Given the description of an element on the screen output the (x, y) to click on. 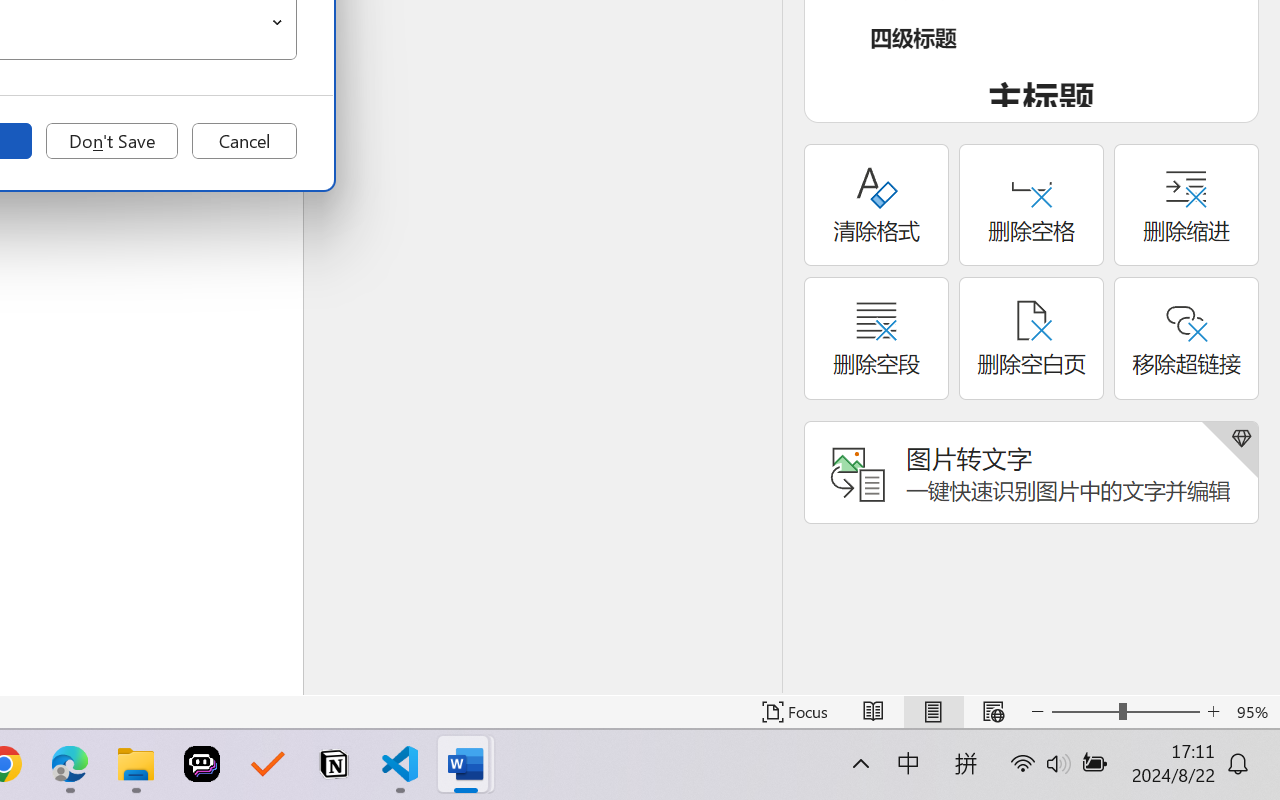
Don't Save (111, 141)
